Given the description of an element on the screen output the (x, y) to click on. 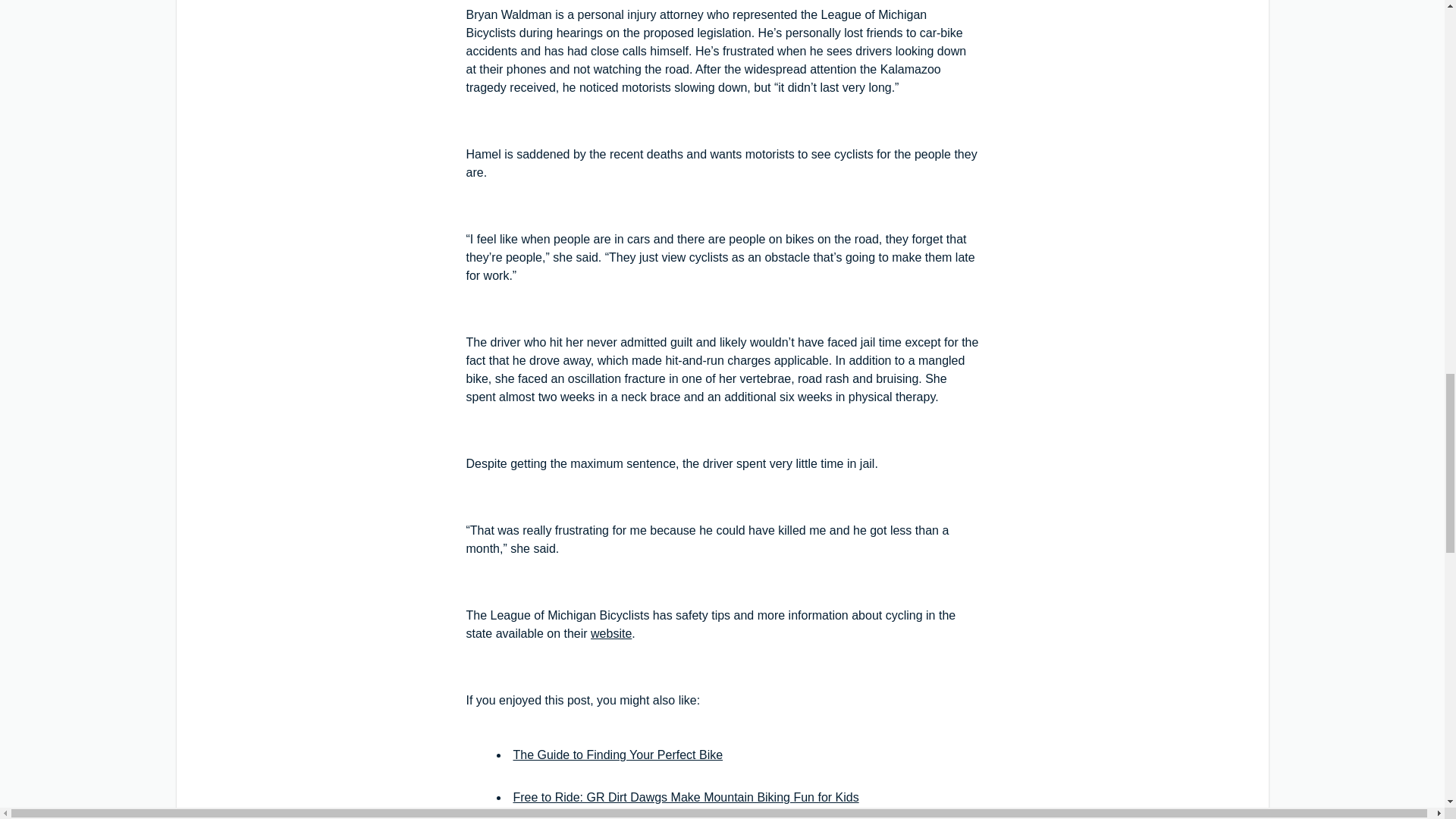
website (611, 633)
The Guide to Finding Your Perfect Bike (617, 754)
